Given the description of an element on the screen output the (x, y) to click on. 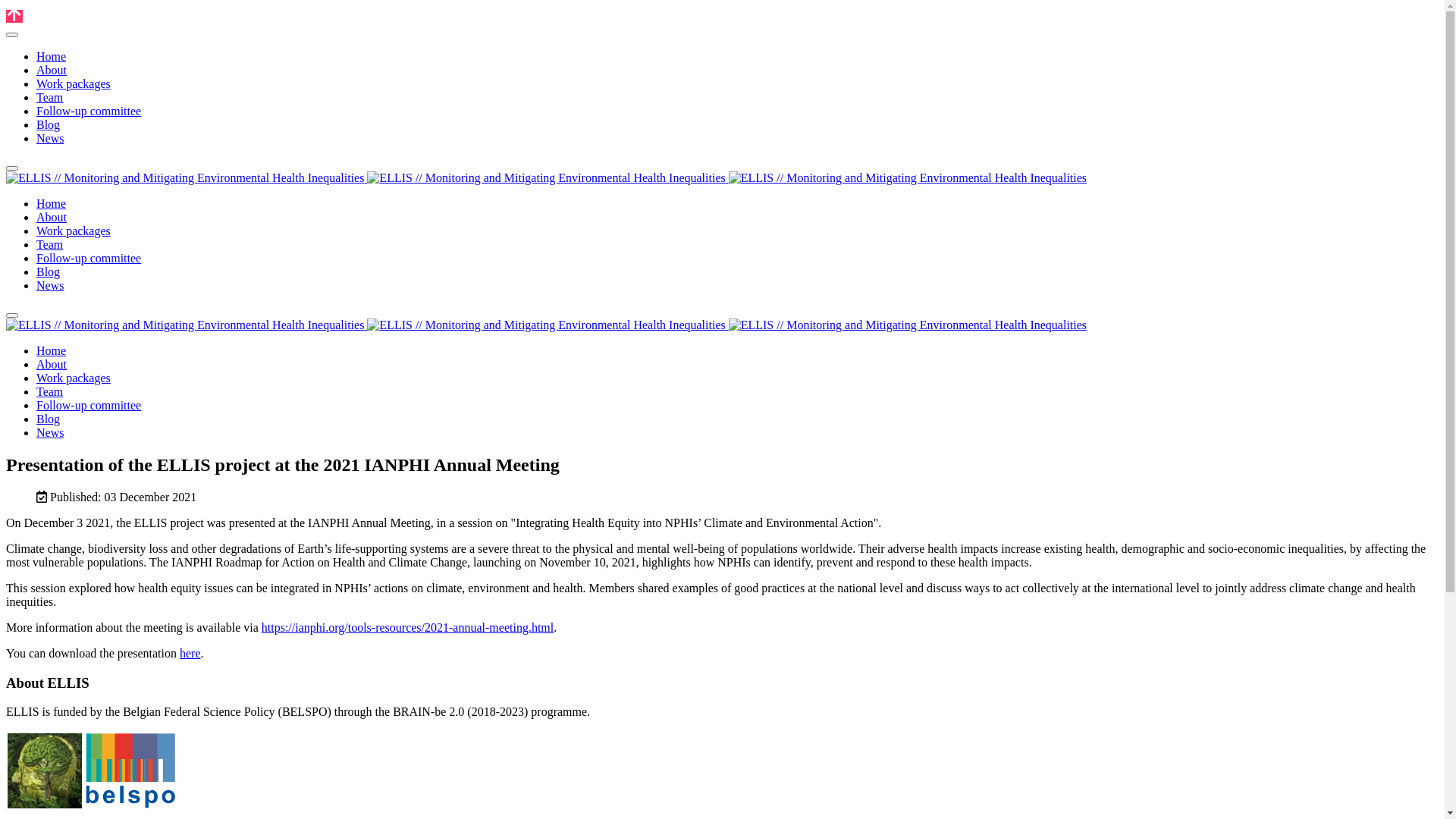
Blog Element type: text (47, 124)
Follow-up committee Element type: text (88, 404)
News Element type: text (49, 285)
About Element type: text (51, 69)
News Element type: text (49, 137)
Work packages Element type: text (73, 83)
Blog Element type: text (47, 271)
Team Element type: text (49, 244)
About Element type: text (51, 363)
Follow-up committee Element type: text (88, 257)
https://ianphi.org/tools-resources/2021-annual-meeting.html Element type: text (407, 627)
Work packages Element type: text (73, 377)
BRAIN-be 2.0 (2018-2023) homepage Element type: hover (91, 805)
Home Element type: text (50, 203)
Team Element type: text (49, 391)
Home Element type: text (50, 56)
About Element type: text (51, 216)
Work packages Element type: text (73, 230)
here Element type: text (189, 652)
Follow-up committee Element type: text (88, 110)
Team Element type: text (49, 97)
Back to Top Element type: hover (14, 15)
Blog Element type: text (47, 418)
Home Element type: text (50, 350)
News Element type: text (49, 432)
